Given the description of an element on the screen output the (x, y) to click on. 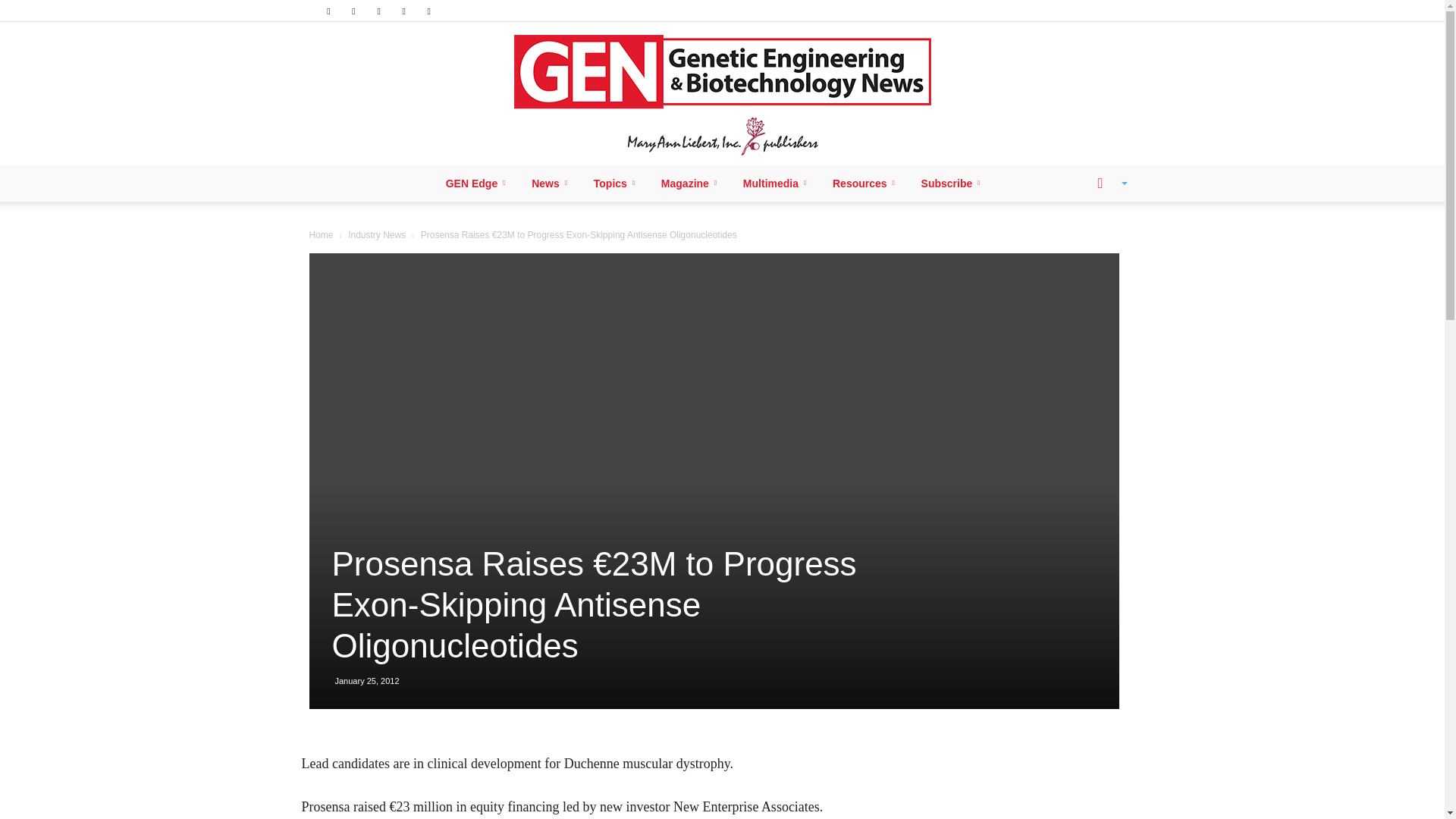
View all posts in Industry News (376, 235)
Youtube (429, 10)
Twitter (403, 10)
RSS (379, 10)
Linkedin (353, 10)
Facebook (328, 10)
